Given the description of an element on the screen output the (x, y) to click on. 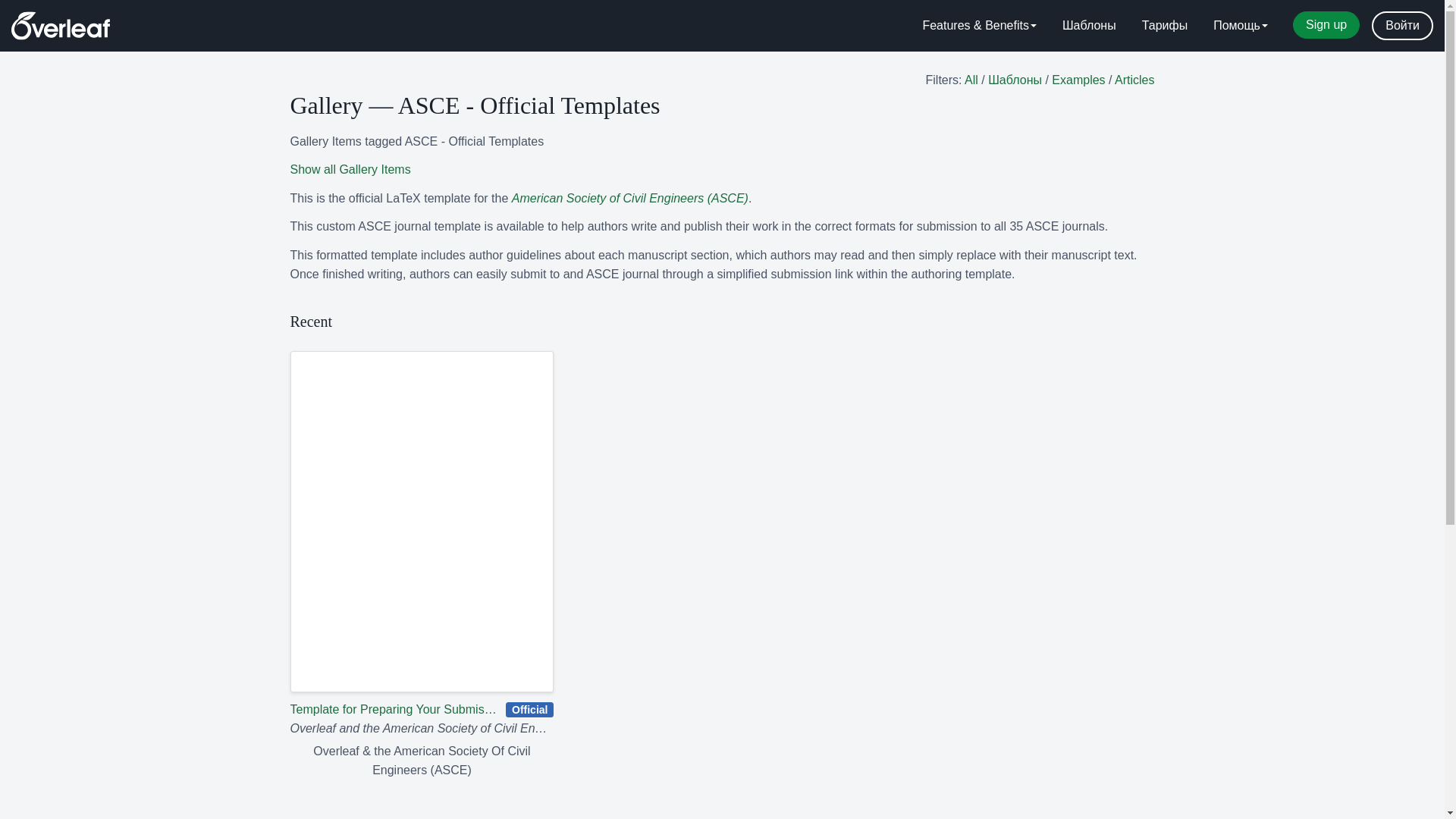
Show all Gallery Items (349, 169)
Articles (1134, 79)
Sign up (1325, 24)
All (970, 79)
Examples (1078, 79)
